Given the description of an element on the screen output the (x, y) to click on. 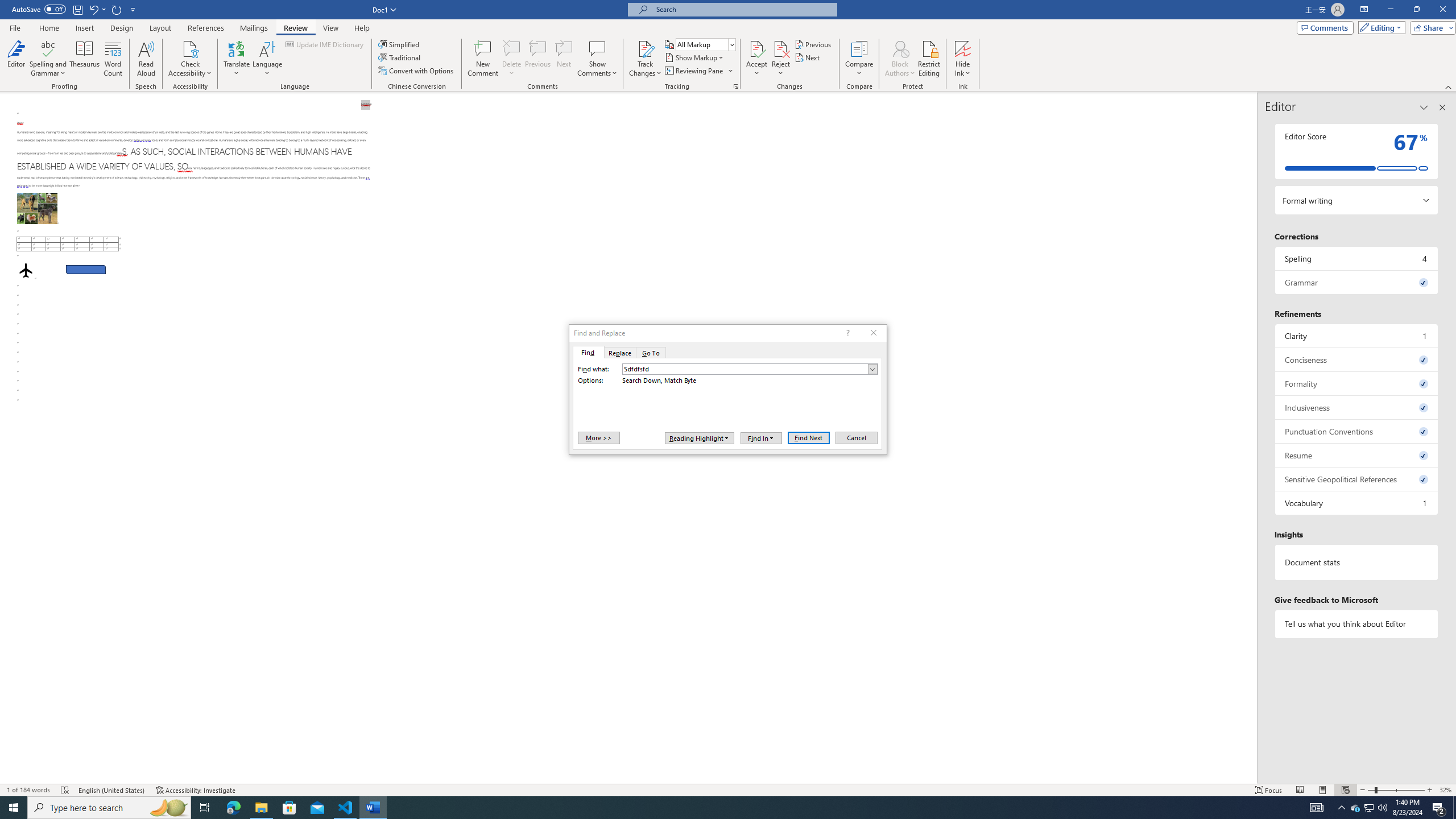
Resume, 0 issues. Press space or enter to review items. (1356, 454)
Check Accessibility (189, 48)
Update IME Dictionary... (324, 44)
Vocabulary, 1 issue. Press space or enter to review items. (1356, 502)
Traditional (400, 56)
Language (267, 58)
Delete (511, 58)
Hide Ink (962, 58)
Undo Paragraph Alignment (92, 9)
Convert with Options... (417, 69)
